Given the description of an element on the screen output the (x, y) to click on. 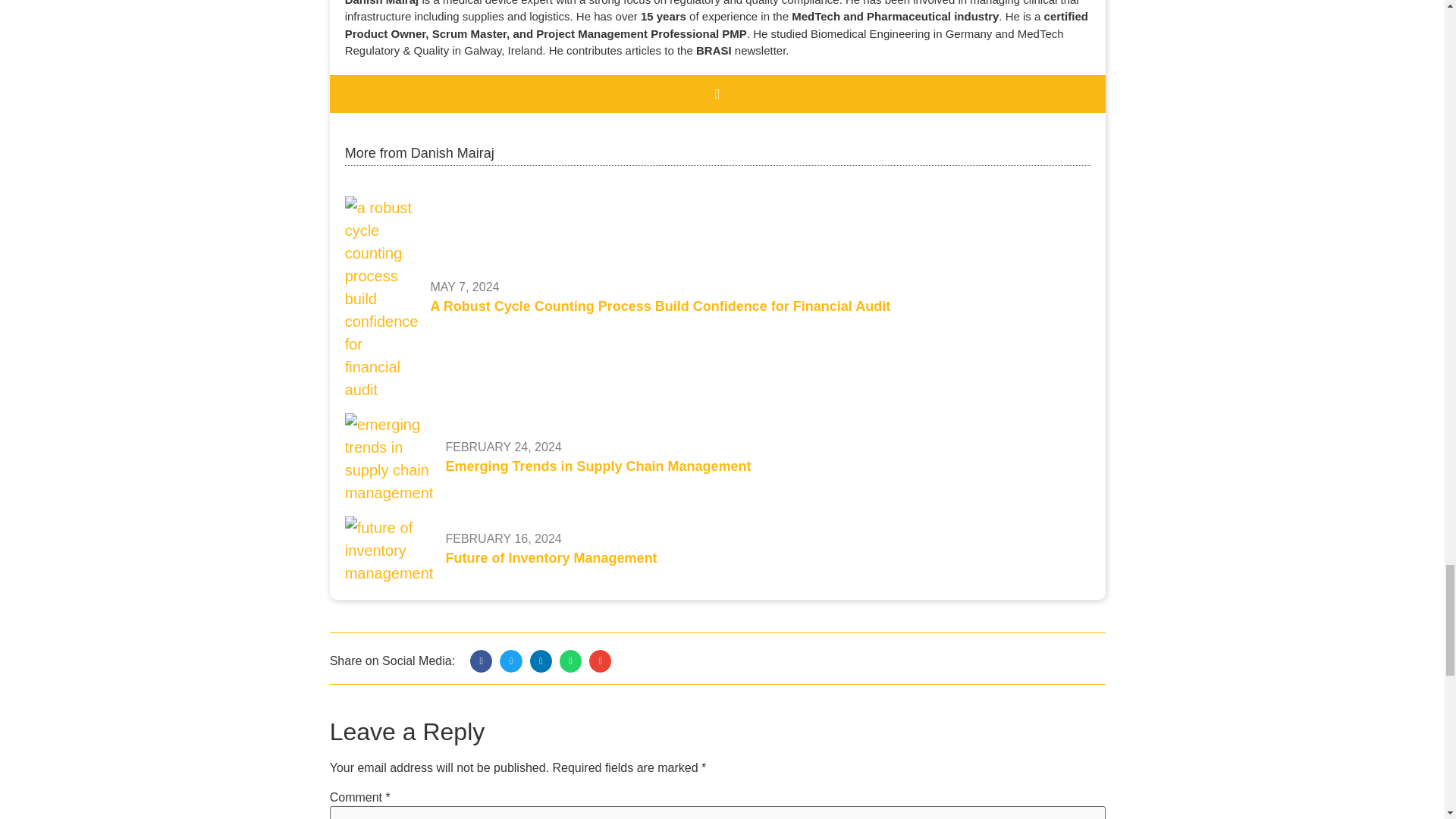
emerging trends in supply chain management 3 (389, 458)
Future of Inventory Management (550, 557)
future of inventory management 4 (389, 550)
Emerging Trends in Supply Chain Management (598, 466)
